Given the description of an element on the screen output the (x, y) to click on. 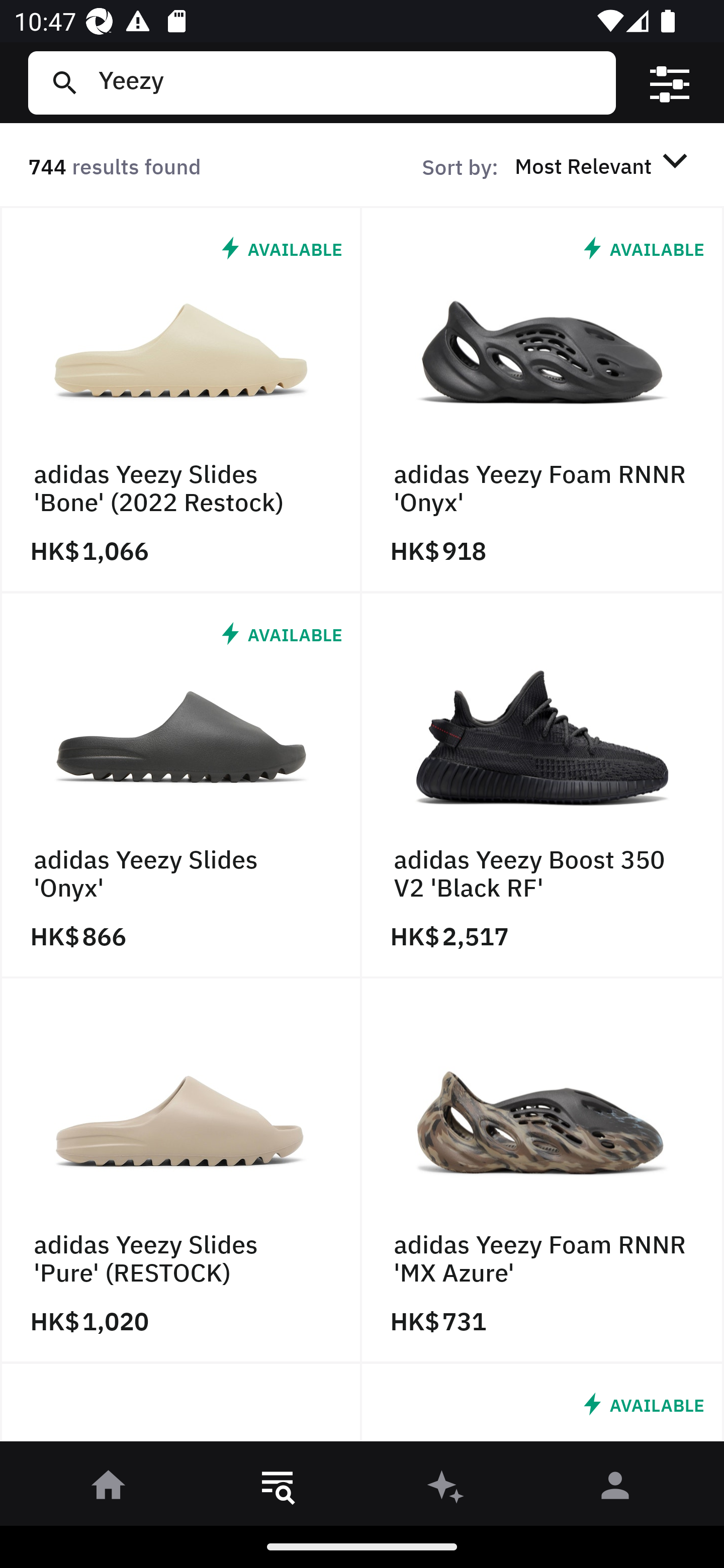
Yeezy (349, 82)
 (669, 82)
Most Relevant  (604, 165)
 AVAILABLE adidas Yeezy Foam RNNR 'Onyx' HK$ 918 (543, 399)
 AVAILABLE adidas Yeezy Slides 'Onyx' HK$ 866 (181, 785)
adidas Yeezy Boost 350 V2 'Black RF' HK$ 2,517 (543, 785)
adidas Yeezy Slides 'Pure' (RESTOCK) HK$ 1,020 (181, 1171)
adidas Yeezy Foam RNNR 'MX Azure' HK$ 731 (543, 1171)
󰋜 (108, 1488)
󱎸 (277, 1488)
󰫢 (446, 1488)
󰀄 (615, 1488)
